Given the description of an element on the screen output the (x, y) to click on. 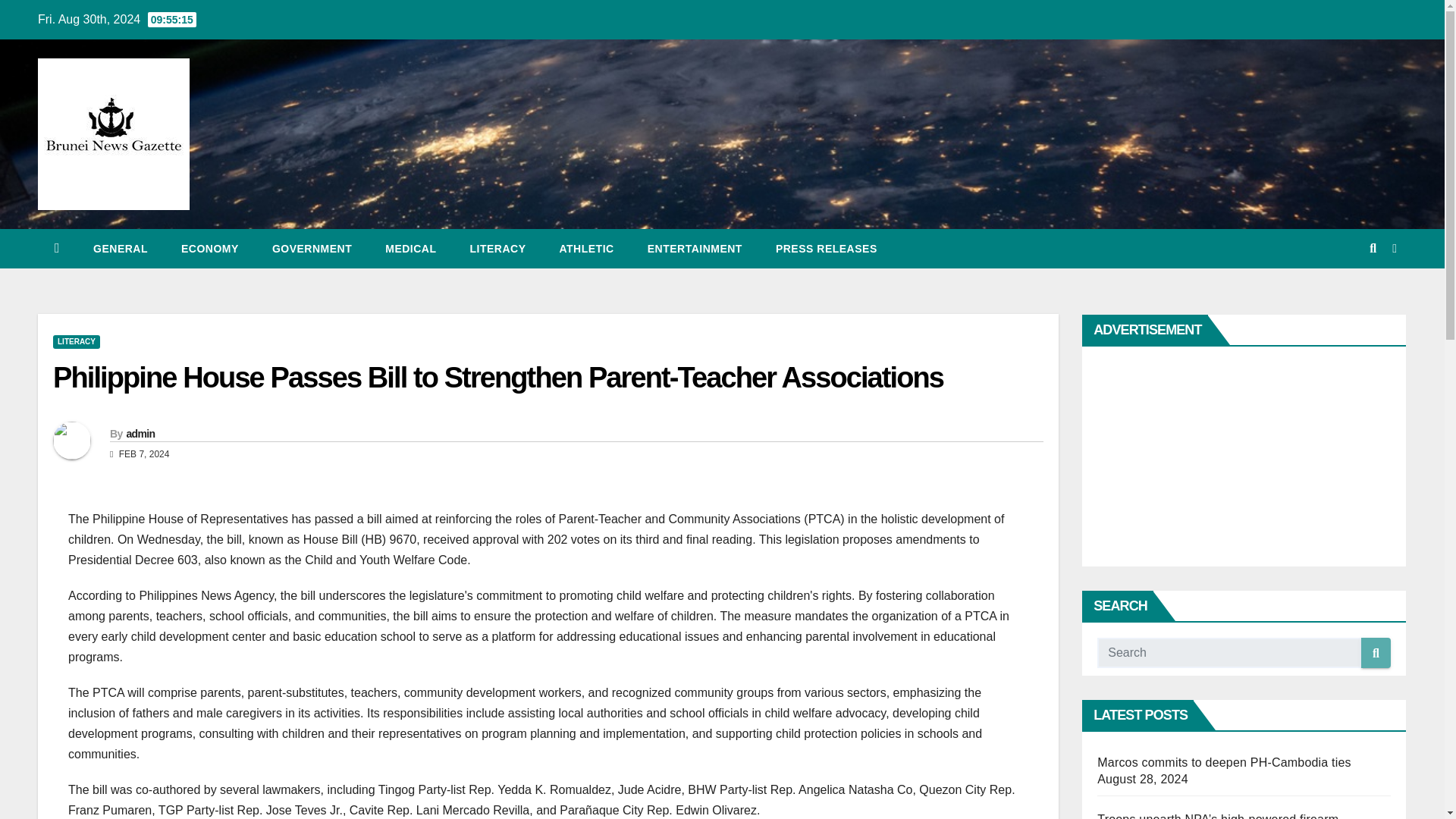
Economy (210, 248)
ENTERTAINMENT (694, 248)
Medical (410, 248)
ATHLETIC (586, 248)
Press Releases (825, 248)
GOVERNMENT (312, 248)
Advertisement (1229, 456)
Entertainment (694, 248)
Literacy (497, 248)
admin (139, 433)
